Given the description of an element on the screen output the (x, y) to click on. 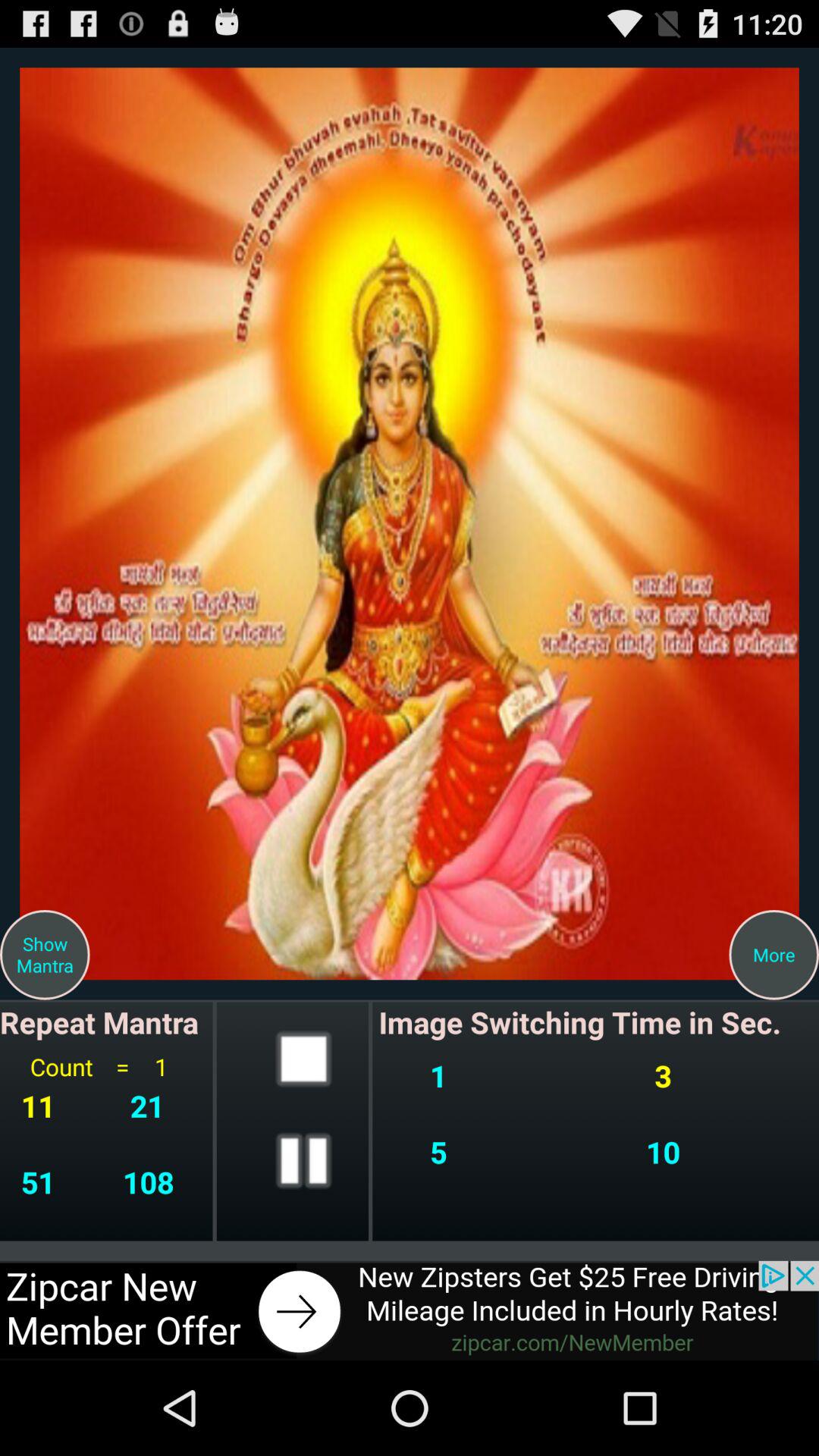
view the advertisement (409, 1310)
